Given the description of an element on the screen output the (x, y) to click on. 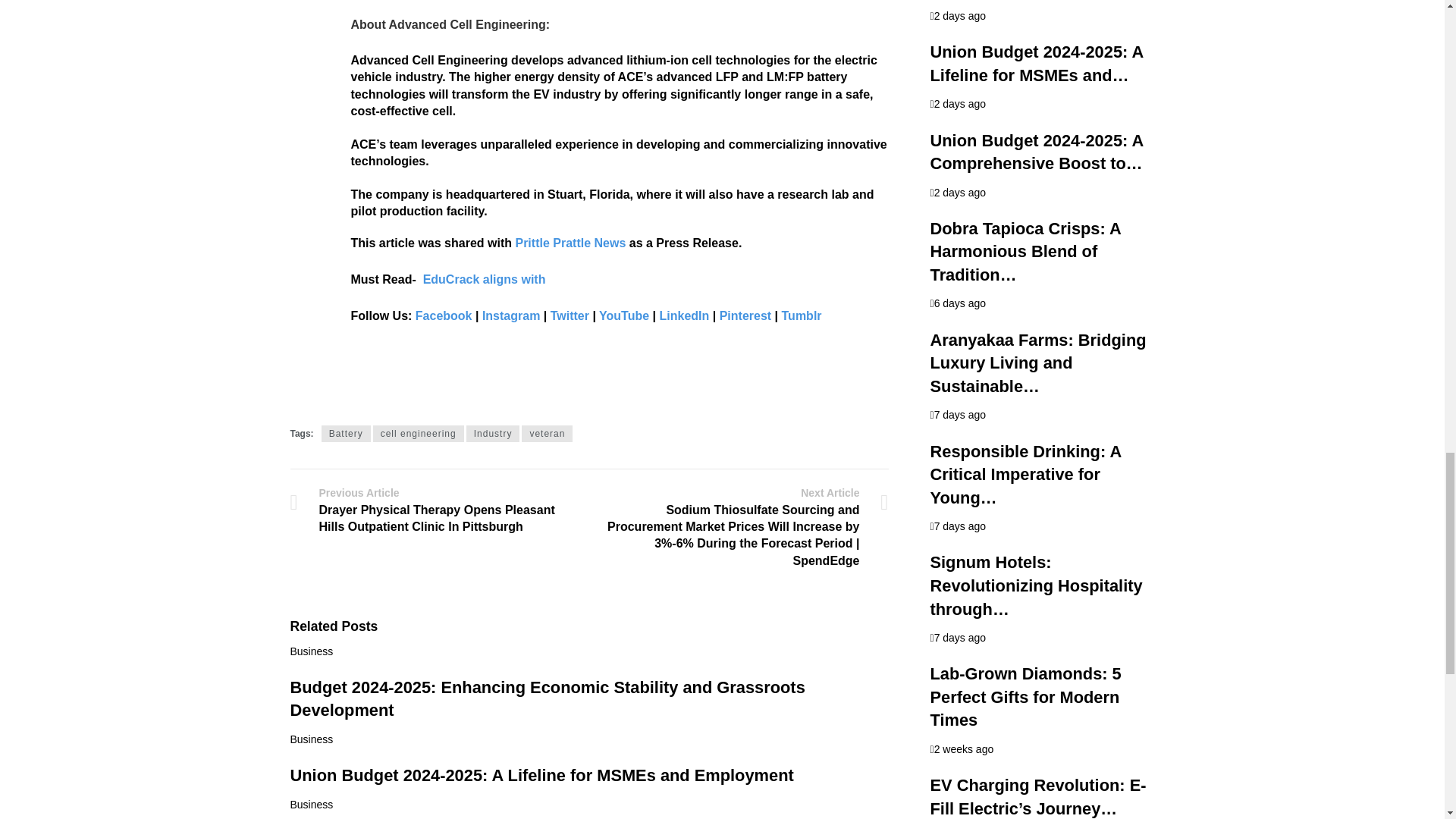
Union Budget 2024-2025: A Lifeline for MSMEs and Employment (541, 774)
